Given the description of an element on the screen output the (x, y) to click on. 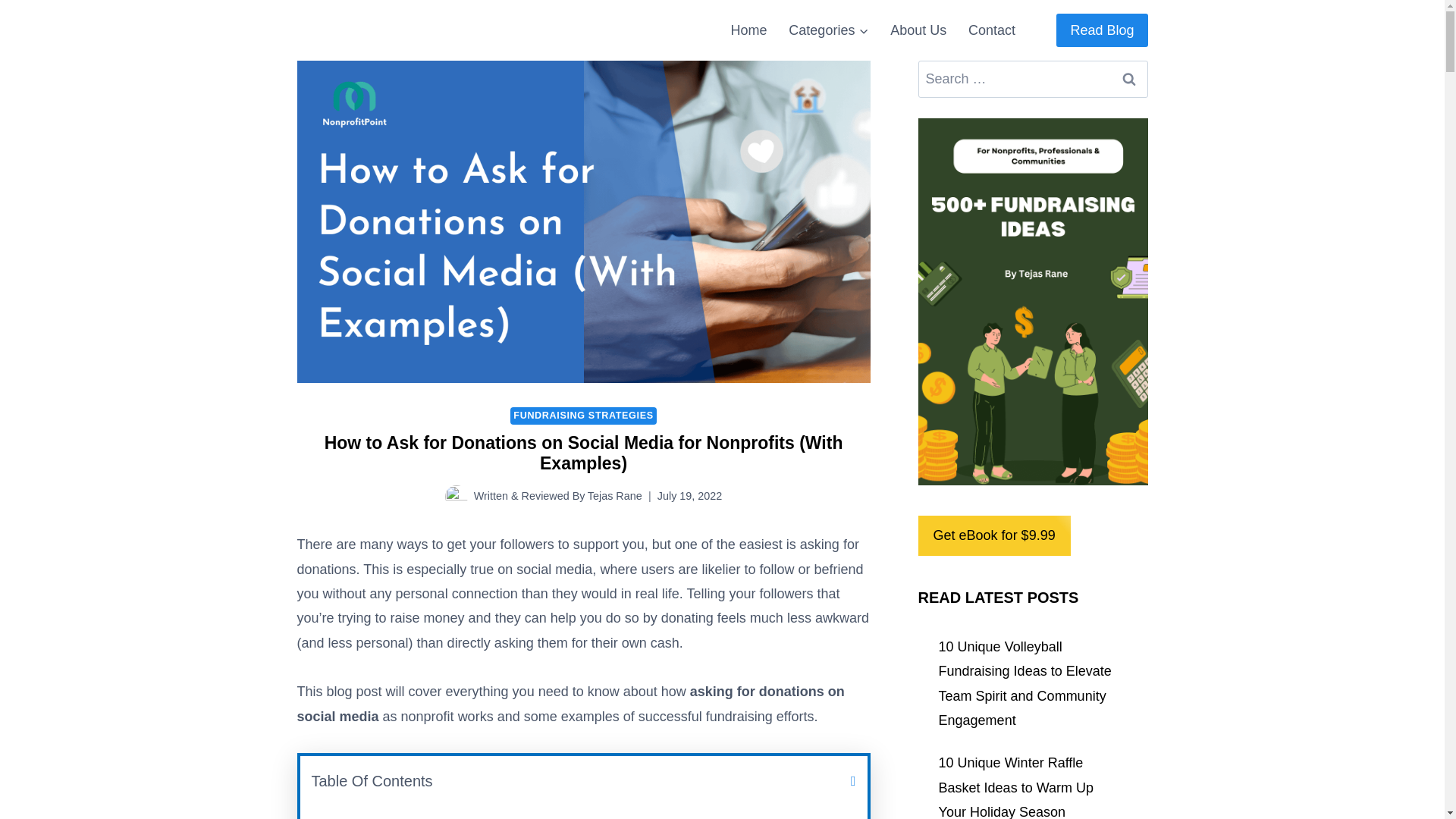
Search (1128, 78)
Tejas Rane (615, 495)
Contact (992, 29)
Read Blog (1102, 29)
Home (748, 29)
About Us (918, 29)
Categories (828, 29)
Search (1128, 78)
FUNDRAISING STRATEGIES (583, 416)
